Given the description of an element on the screen output the (x, y) to click on. 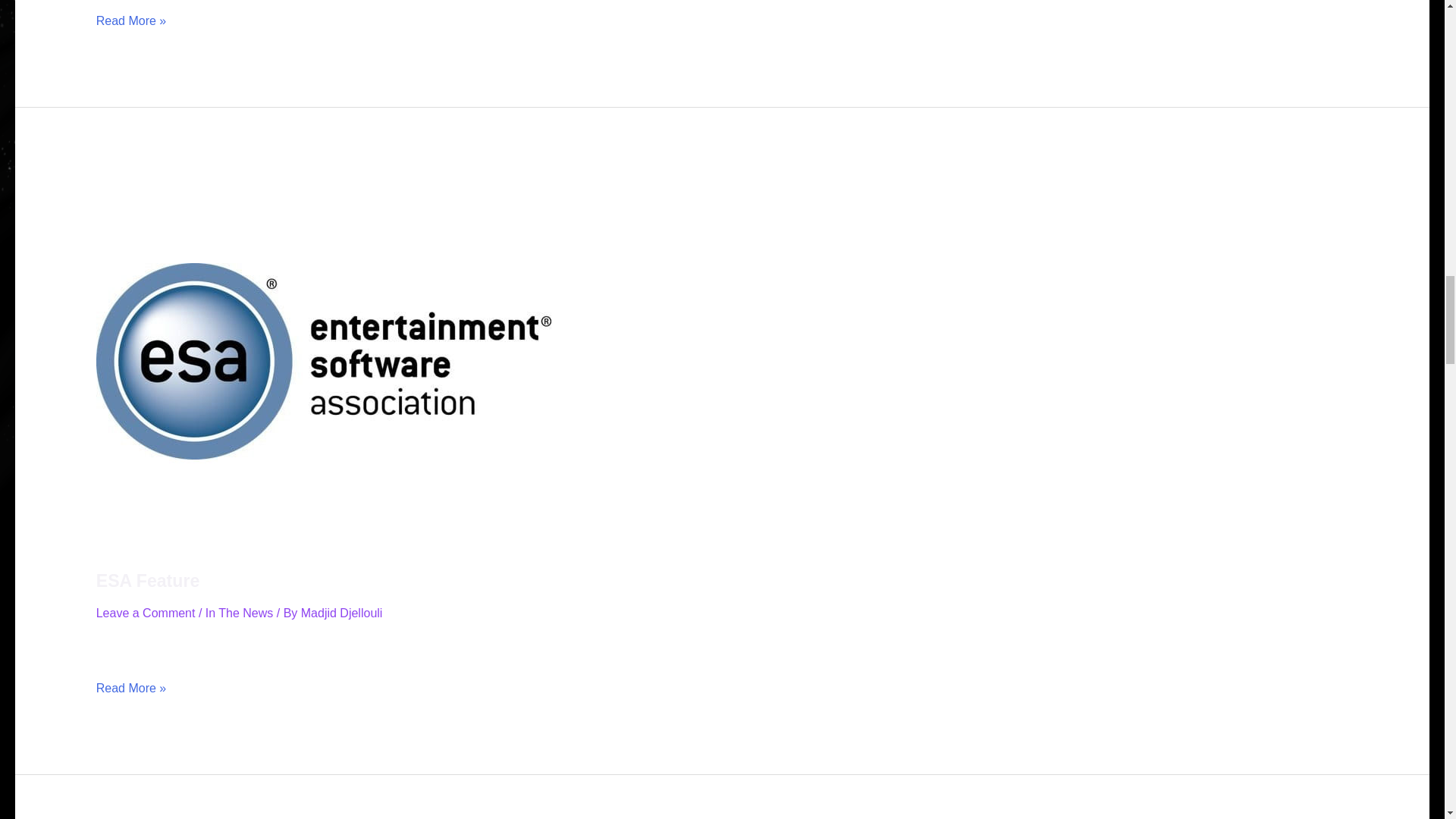
View all posts by Madjid Djellouli (341, 612)
